Given the description of an element on the screen output the (x, y) to click on. 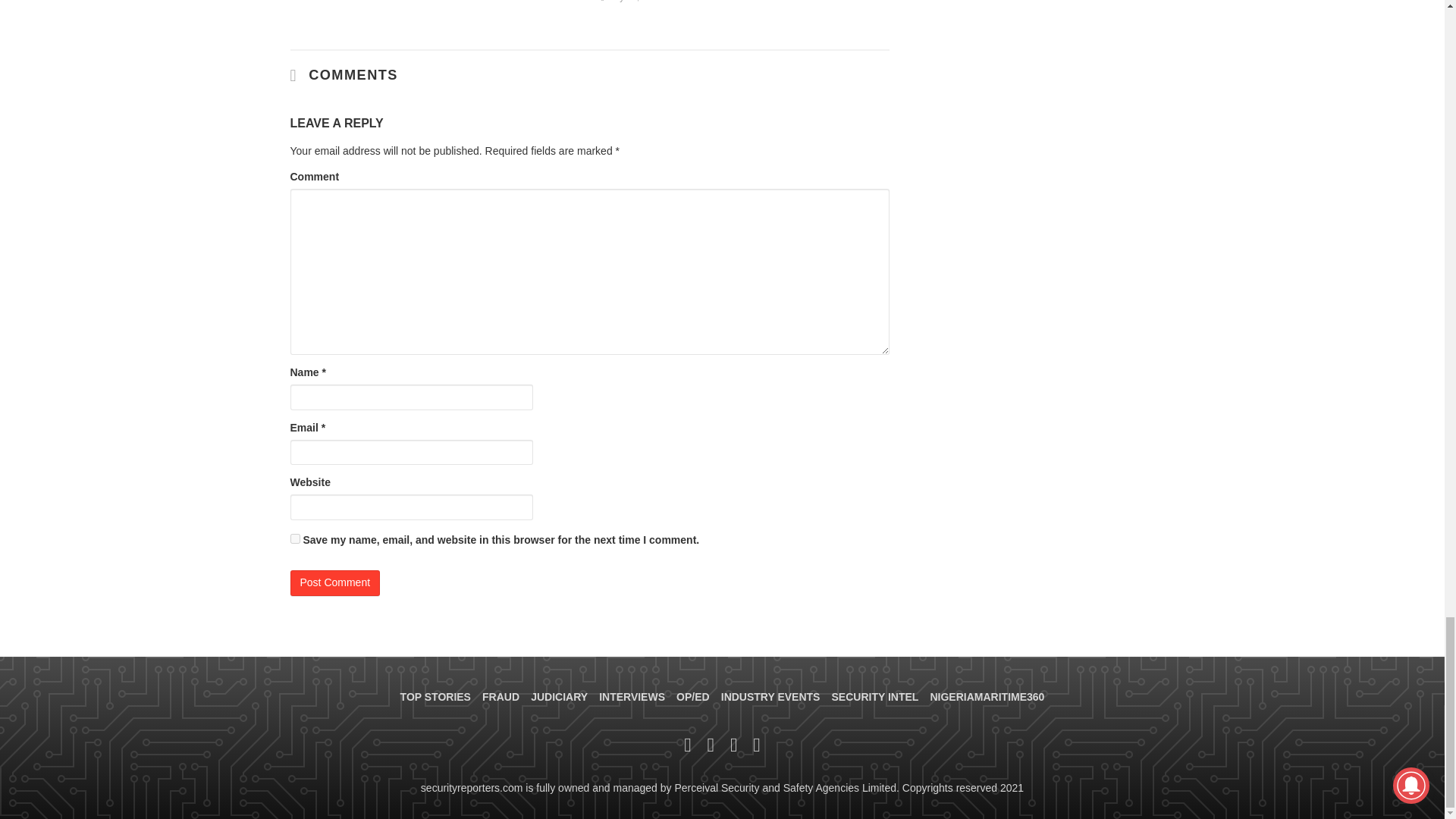
yes (294, 538)
Post Comment (334, 583)
May 19, 2024 at 12:01 am (630, 1)
